Given the description of an element on the screen output the (x, y) to click on. 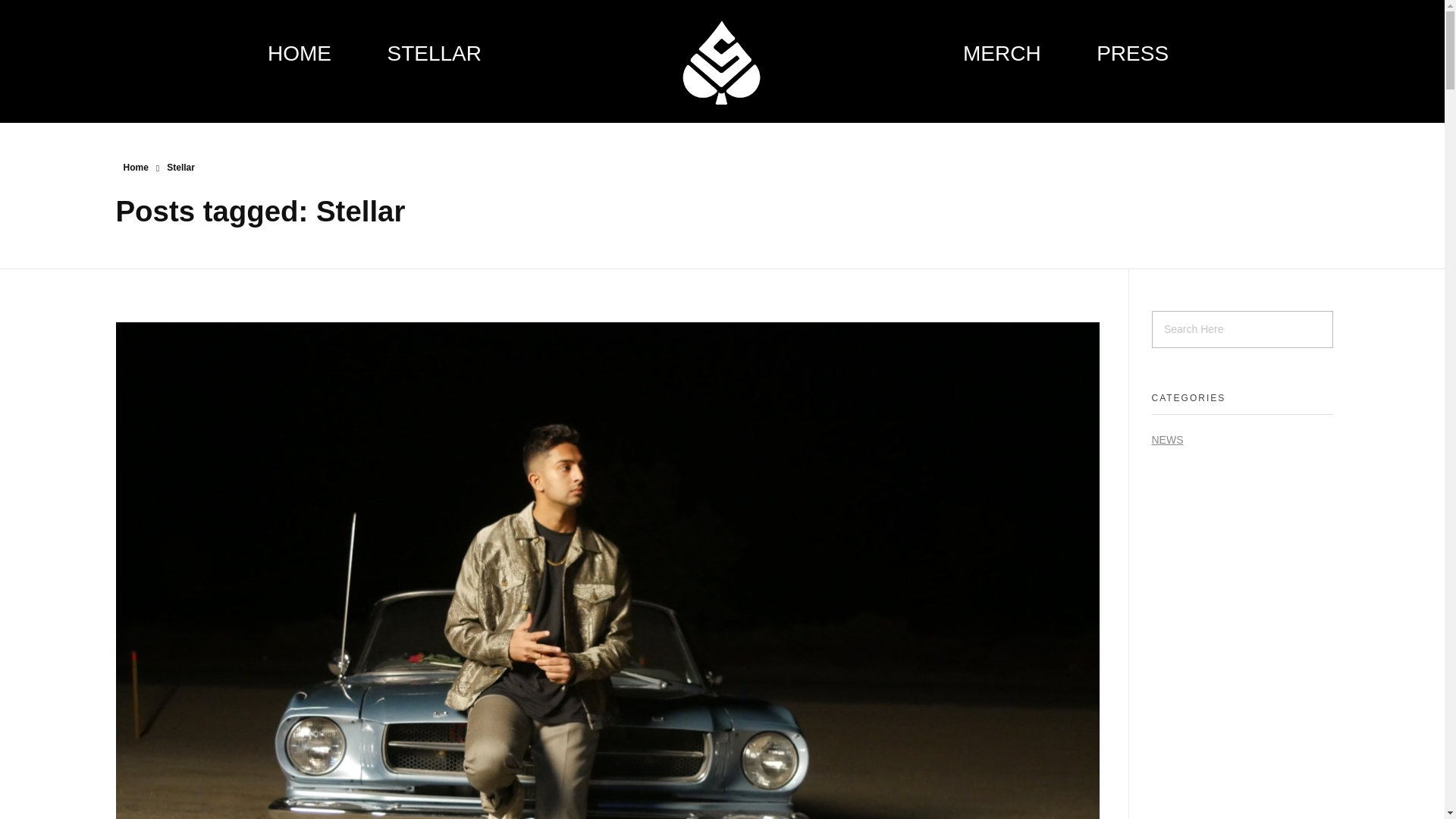
Home (135, 167)
Home (135, 167)
PRESS (1118, 53)
HOME (313, 53)
STELLAR (420, 53)
